Given the description of an element on the screen output the (x, y) to click on. 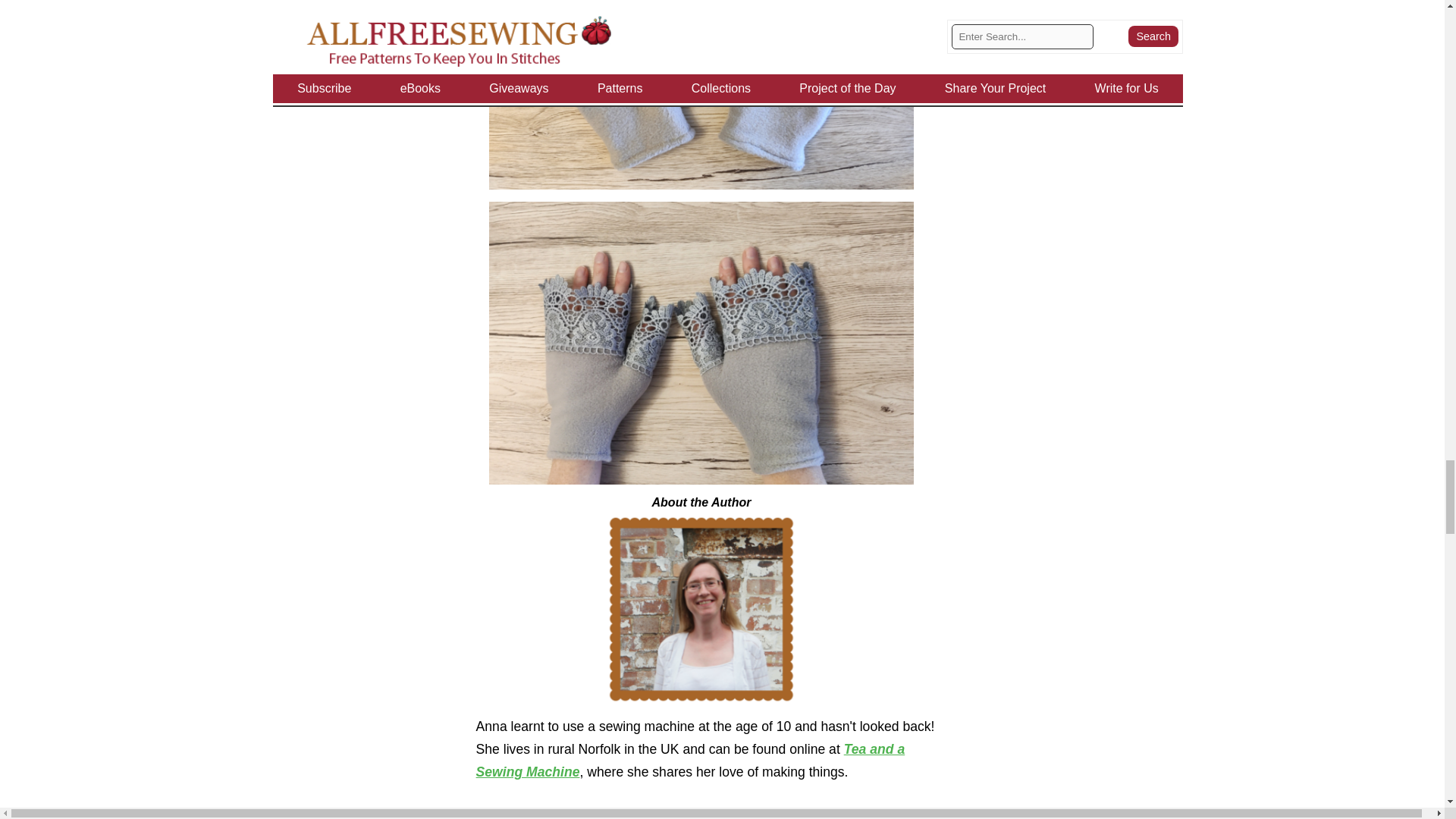
Lace Edged Fingerless Gloves - finished and on hands (701, 342)
Lace Edged Fingerless Gloves - finished (701, 94)
Anna Wilson (701, 609)
